Given the description of an element on the screen output the (x, y) to click on. 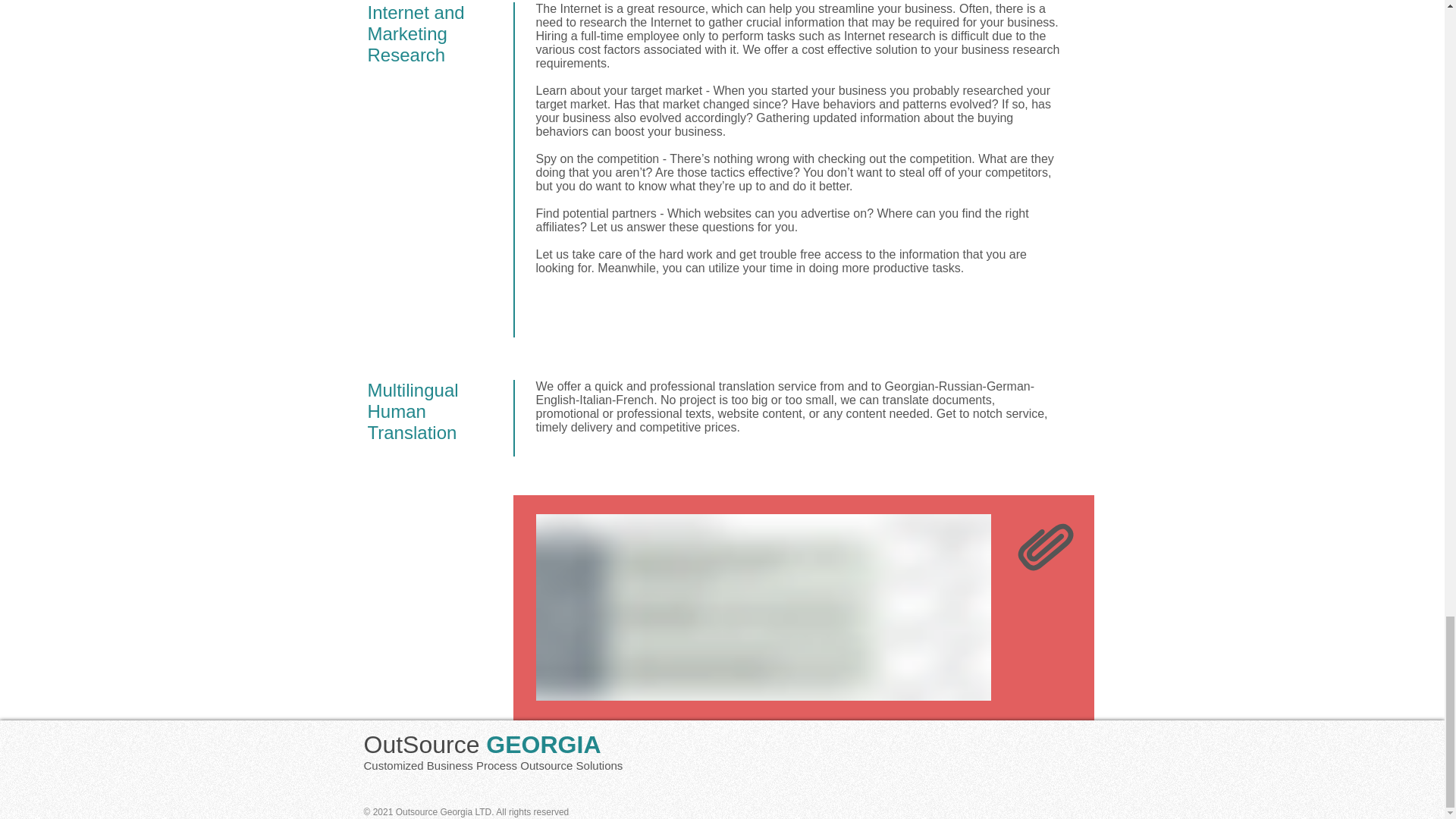
OutSource GEORGIA (482, 744)
